Given the description of an element on the screen output the (x, y) to click on. 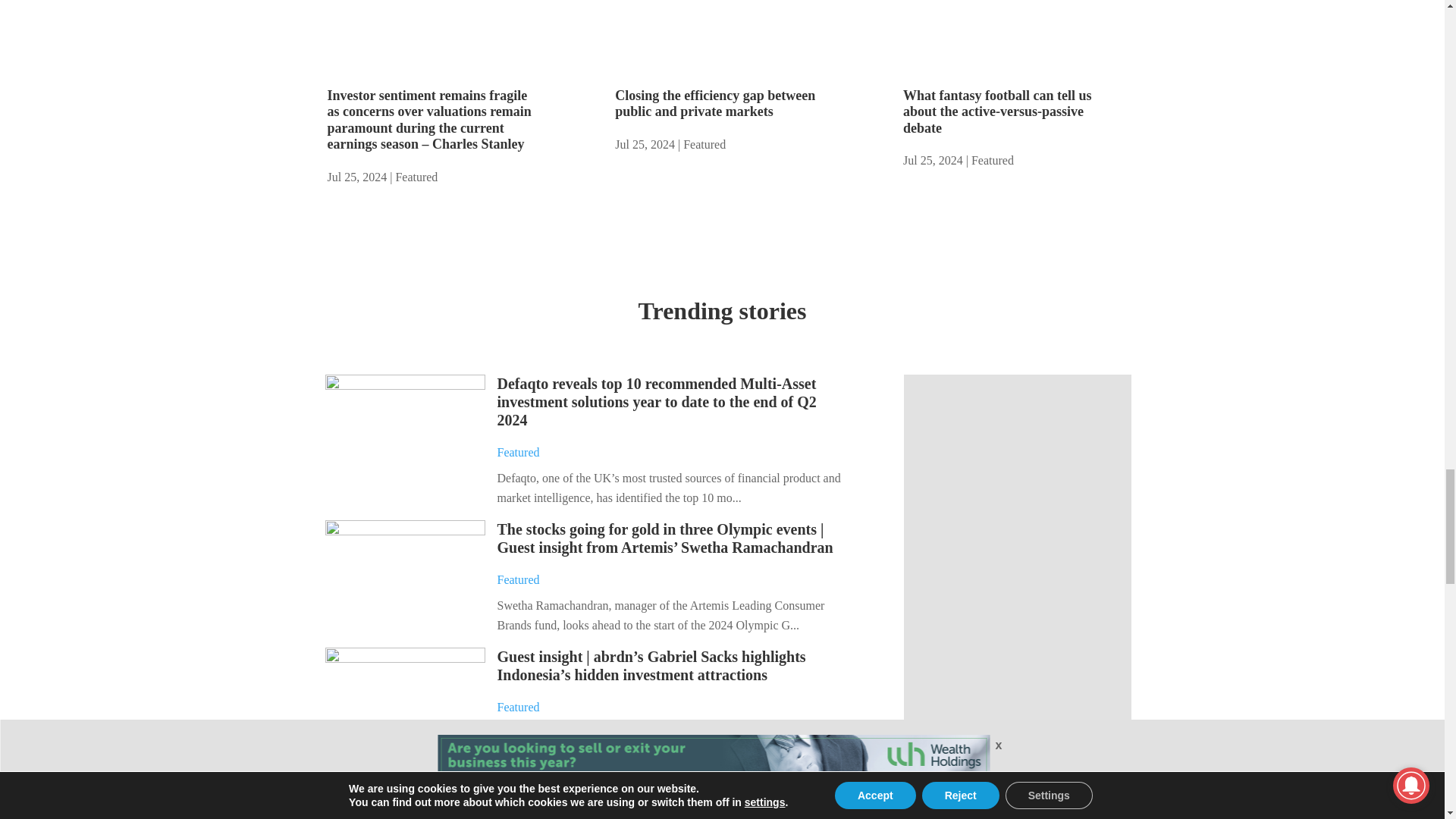
Featured (416, 176)
Featured (992, 160)
Featured (703, 144)
Featured (518, 579)
Featured (518, 451)
